Given the description of an element on the screen output the (x, y) to click on. 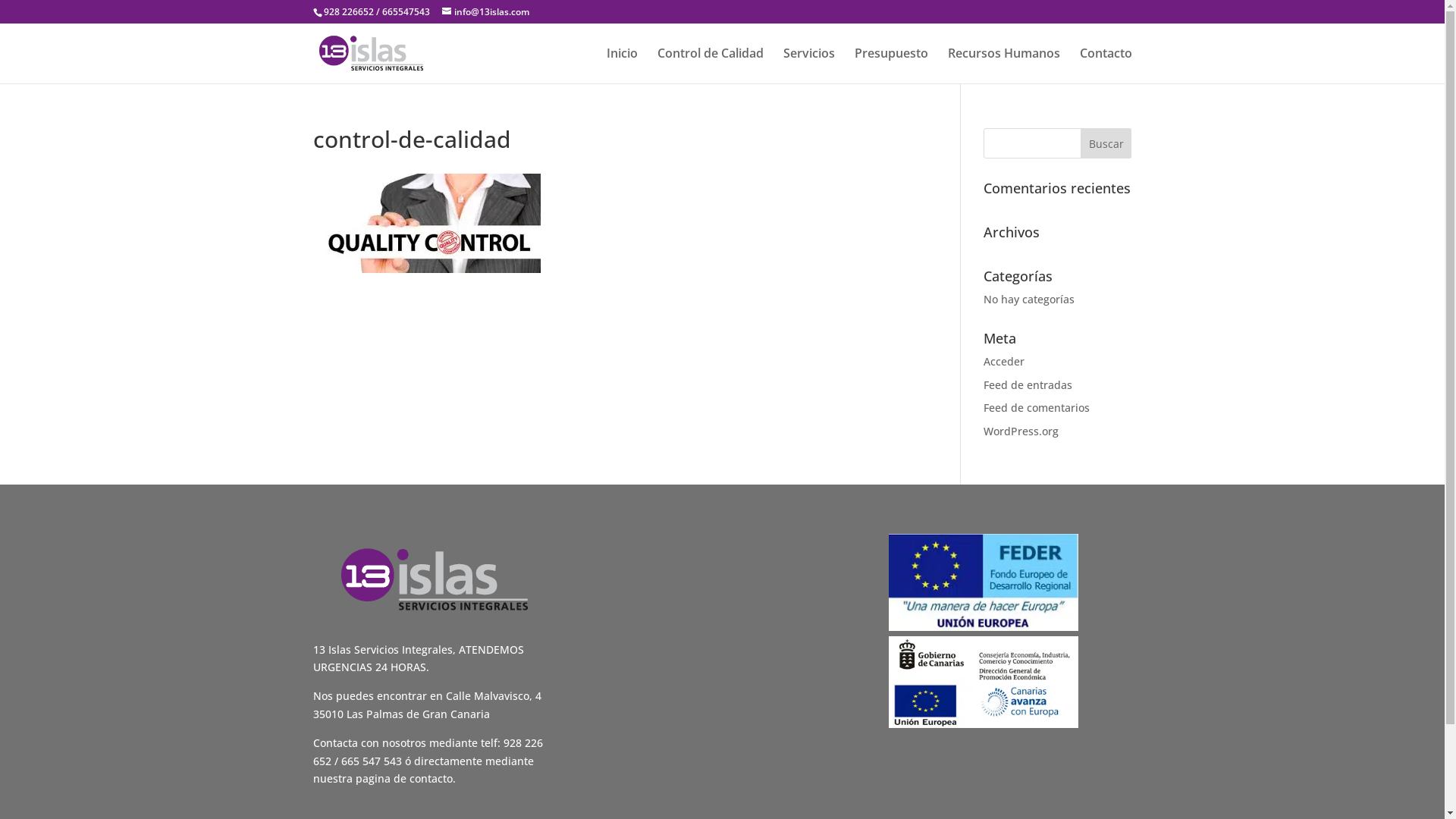
Servicios Element type: text (808, 65)
Inicio Element type: text (621, 65)
Control de Calidad Element type: text (709, 65)
WordPress.org Element type: text (1020, 430)
Recursos Humanos Element type: text (1003, 65)
Feed de entradas Element type: text (1027, 384)
Buscar Element type: text (1106, 143)
Acceder Element type: text (1003, 361)
Contacto Element type: text (1105, 65)
Feed de comentarios Element type: text (1036, 407)
Presupuesto Element type: text (890, 65)
info@13islas.com Element type: text (484, 11)
